Given the description of an element on the screen output the (x, y) to click on. 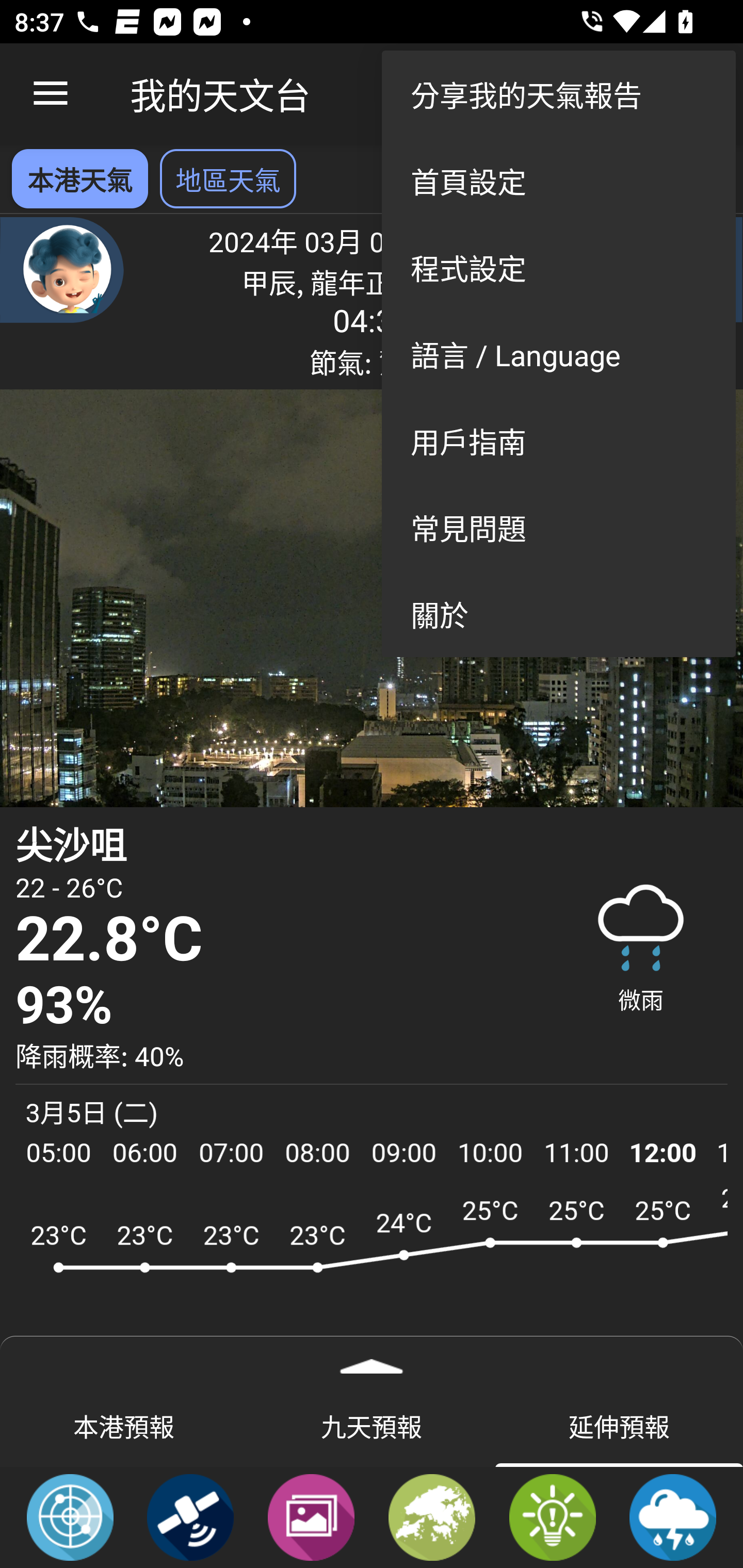
分享我的天氣報告 (558, 93)
首頁設定 (558, 180)
程式設定 (558, 267)
語言 / Language (558, 353)
用戶指南 (558, 440)
常見問題 (558, 527)
關於 (558, 613)
